Given the description of an element on the screen output the (x, y) to click on. 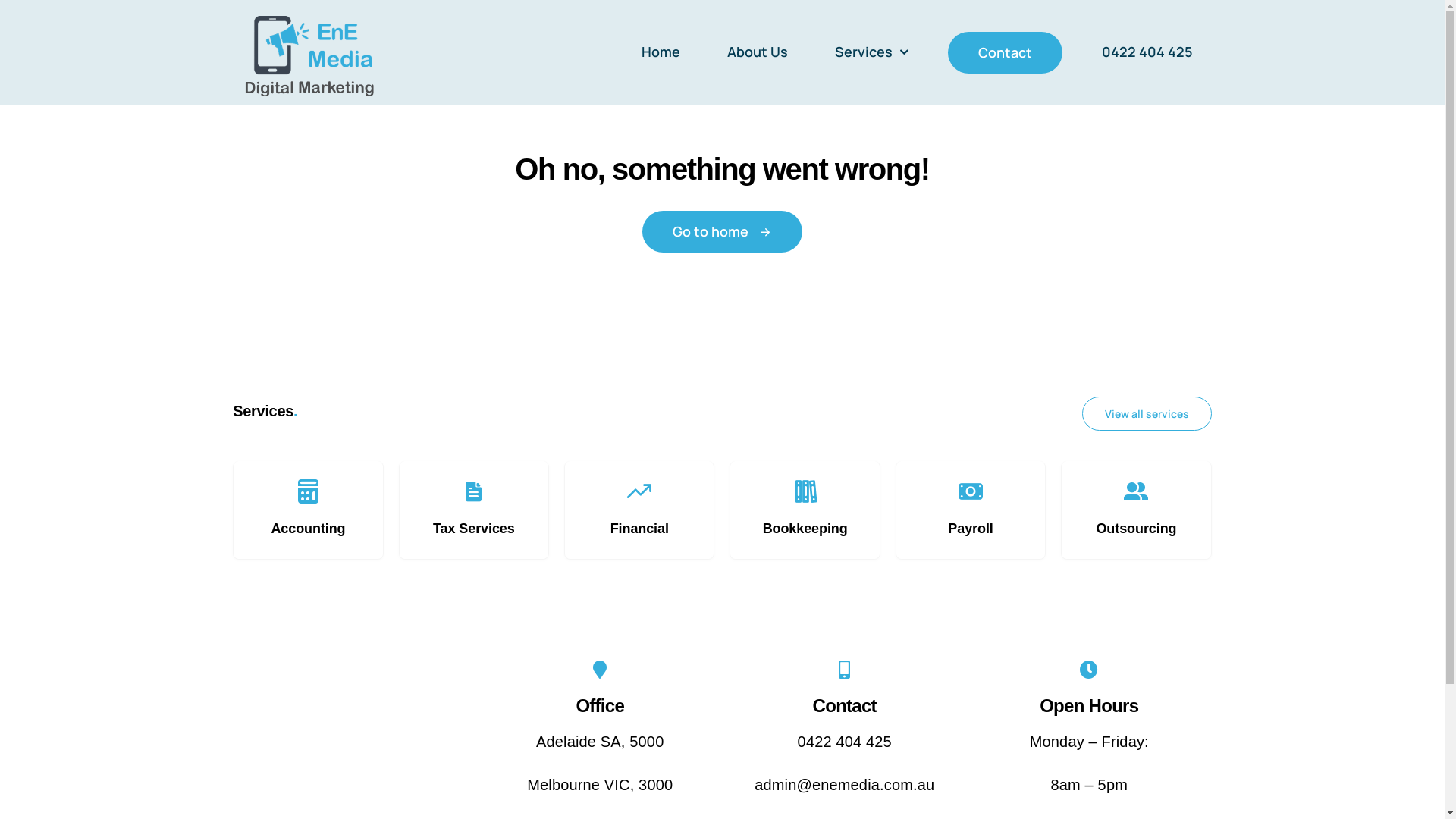
View all services Element type: text (1146, 413)
admin@enemedia.com.au Element type: text (844, 784)
Contact Element type: text (1004, 52)
Services Element type: text (871, 52)
Go to home Element type: text (722, 231)
0422 404 425 Element type: text (1147, 52)
About Us Element type: text (757, 52)
Home Element type: text (660, 52)
0422 404 425 Element type: text (844, 741)
